Given the description of an element on the screen output the (x, y) to click on. 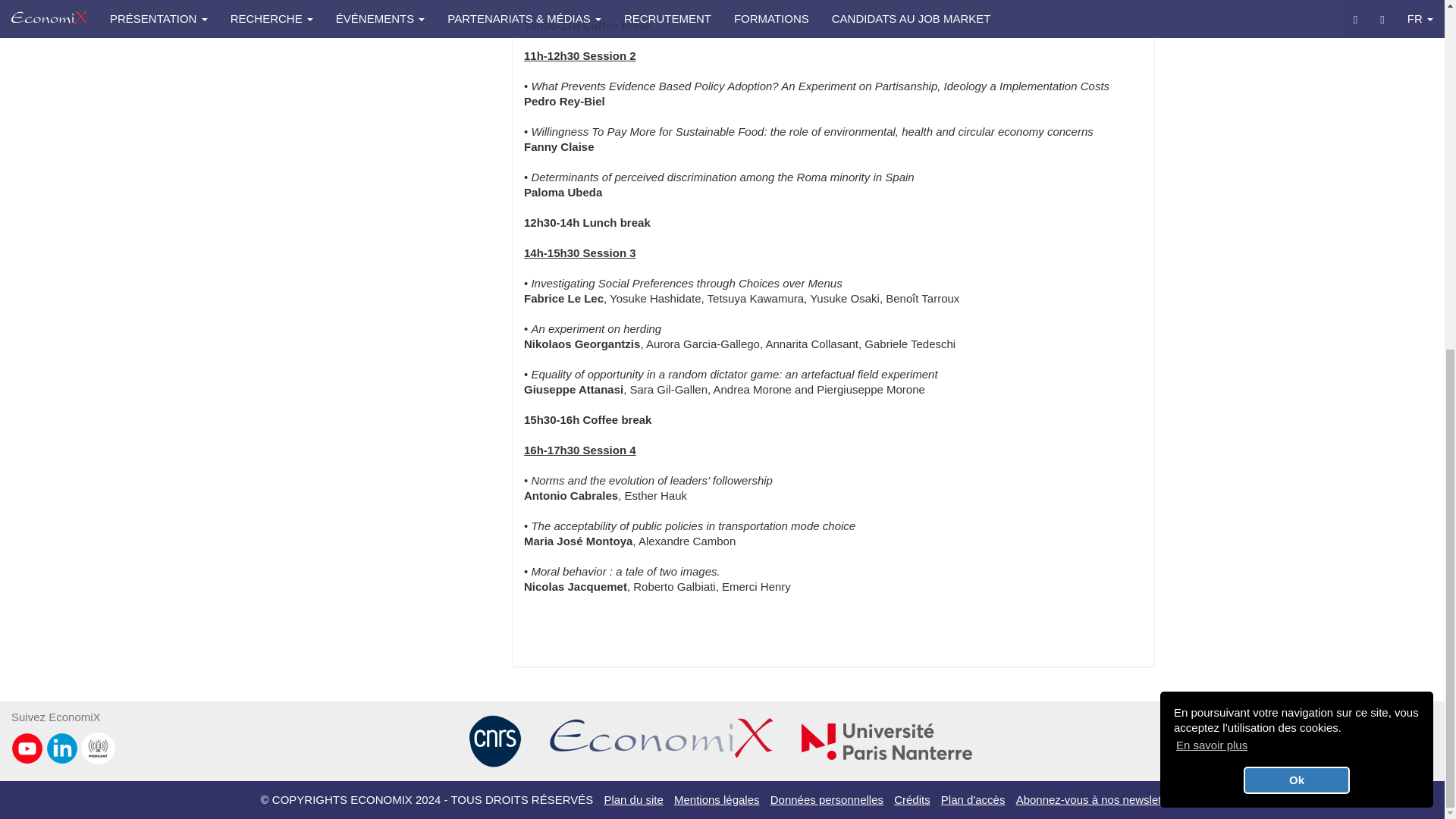
CNRS (494, 739)
Ok (1296, 176)
UPX (887, 739)
Plan du site (633, 799)
En savoir plus (1211, 141)
